Given the description of an element on the screen output the (x, y) to click on. 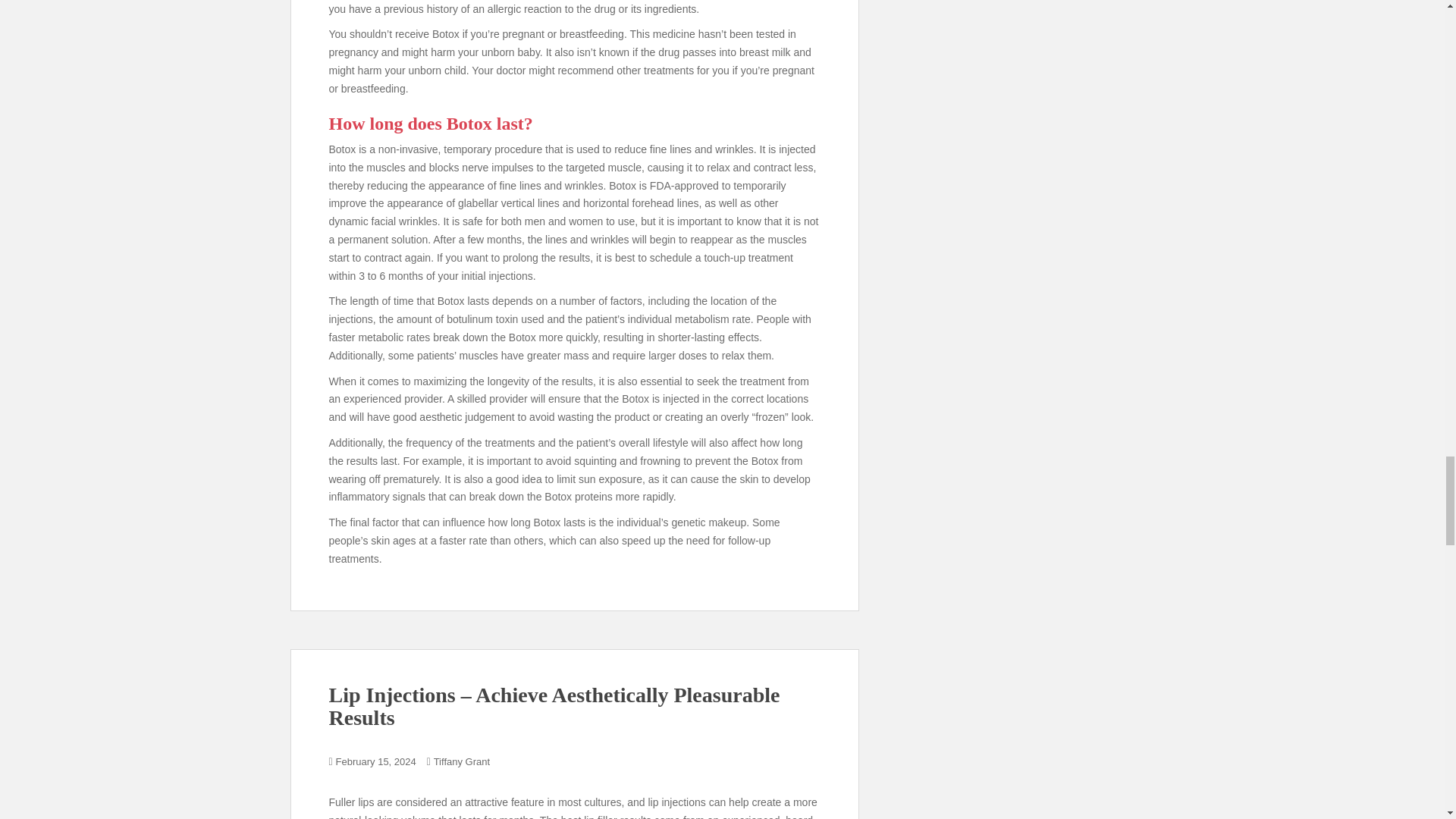
February 15, 2024 (376, 761)
Tiffany Grant (461, 761)
